Given the description of an element on the screen output the (x, y) to click on. 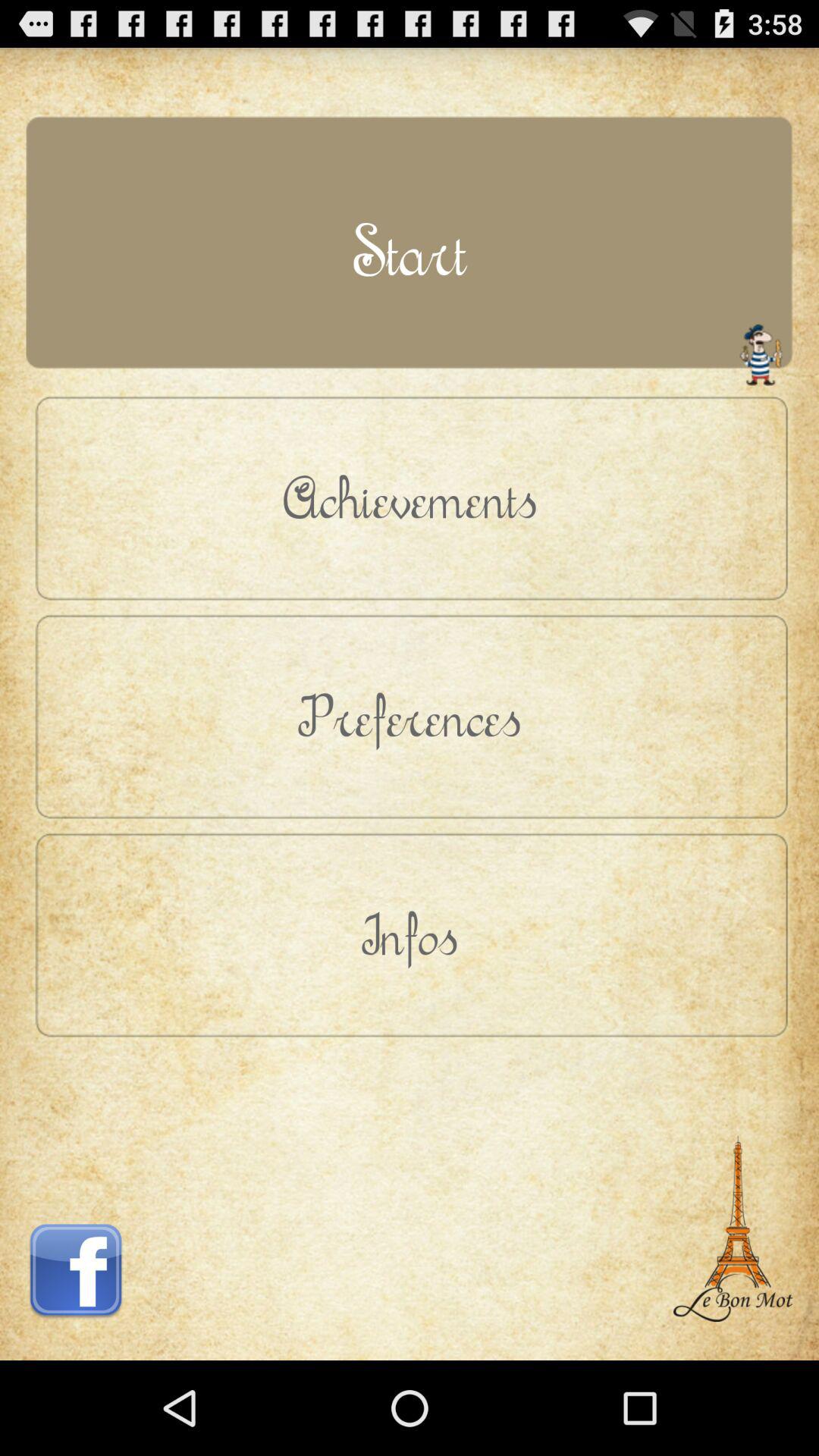
turn on the button below start button (409, 497)
